Given the description of an element on the screen output the (x, y) to click on. 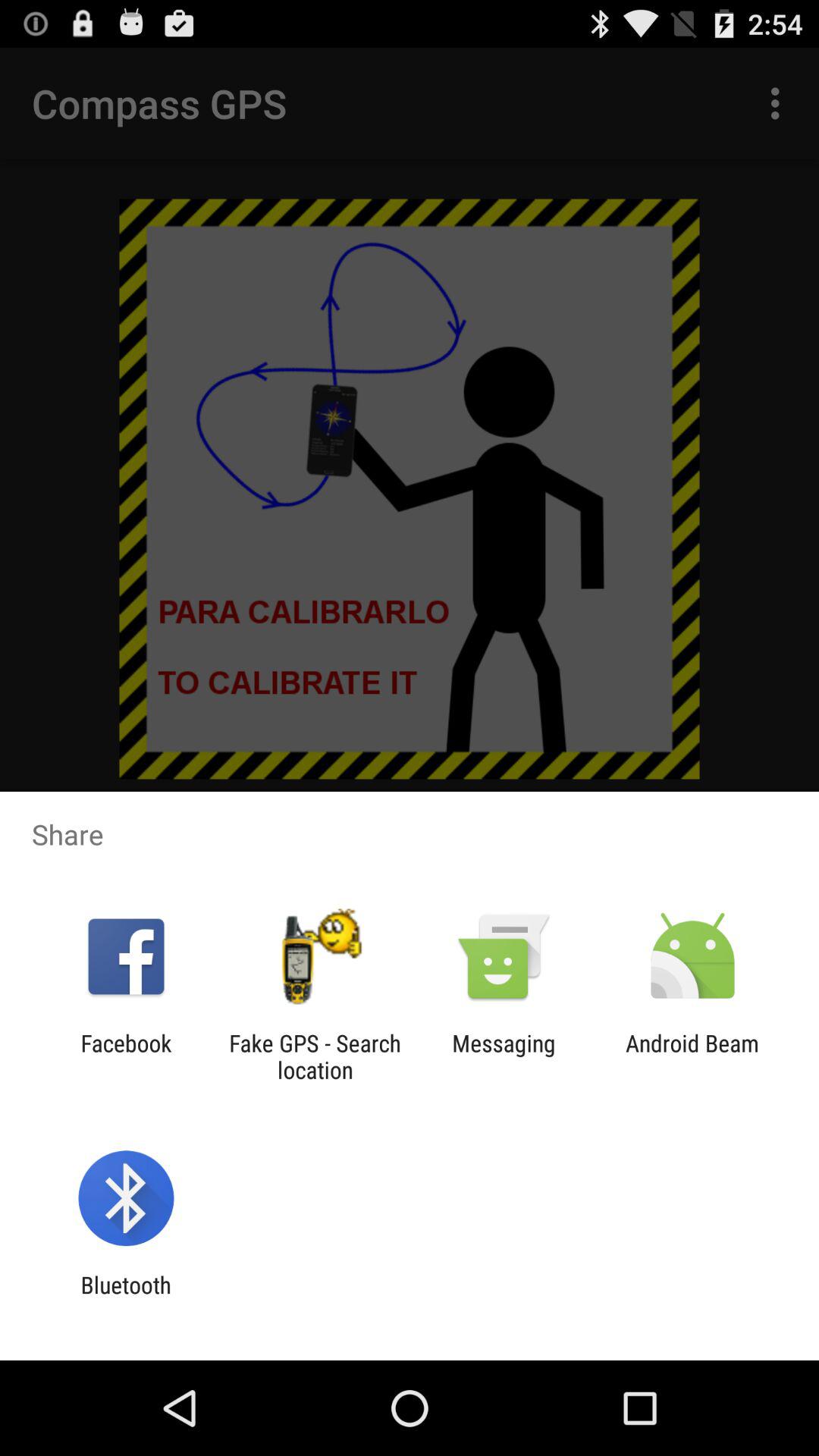
launch item to the left of android beam (503, 1056)
